Given the description of an element on the screen output the (x, y) to click on. 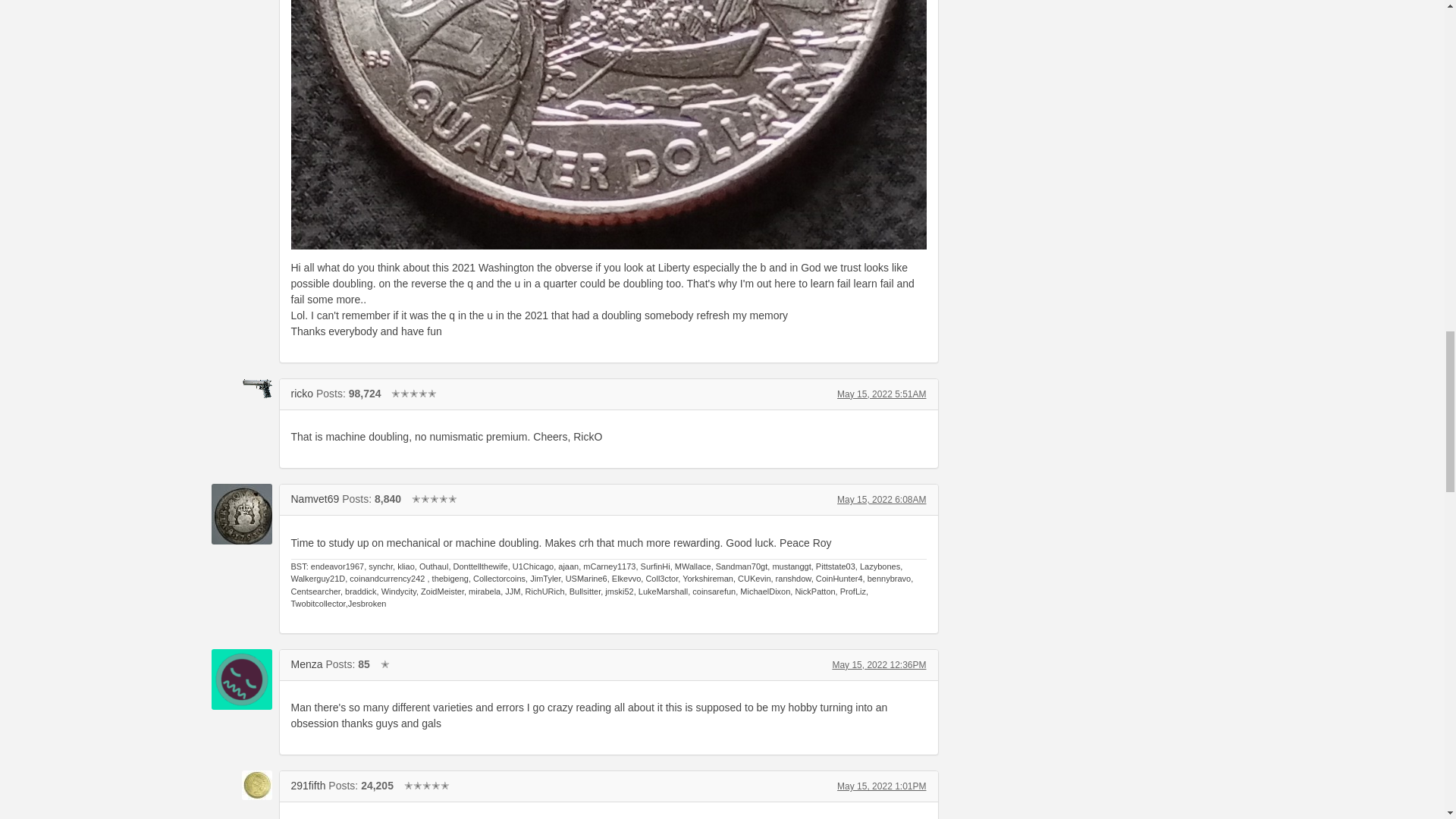
May 15, 2022 6:08AM (881, 499)
Menza (240, 679)
May 15, 2022 6:08AM (881, 499)
Namvet69 (240, 514)
ricko (240, 388)
May 15, 2022 1:01PM (881, 786)
May 15, 2022 5:51AM (881, 394)
291fifth (308, 785)
Master Collector (413, 393)
May 15, 2022 5:51AM (881, 394)
